Given the description of an element on the screen output the (x, y) to click on. 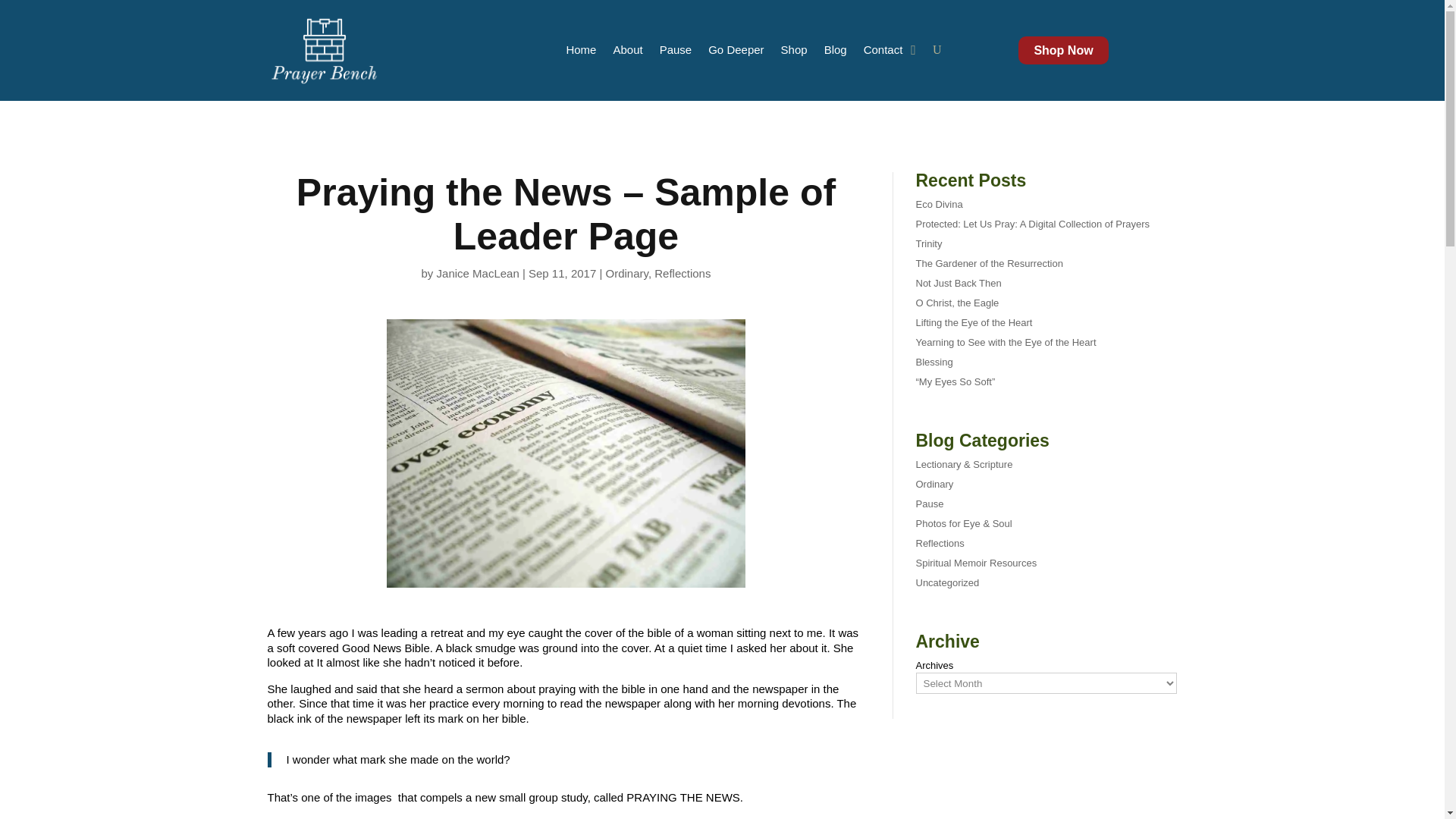
Shop Now (1062, 50)
newspaper (566, 453)
Posts by Janice MacLean (477, 273)
